Given the description of an element on the screen output the (x, y) to click on. 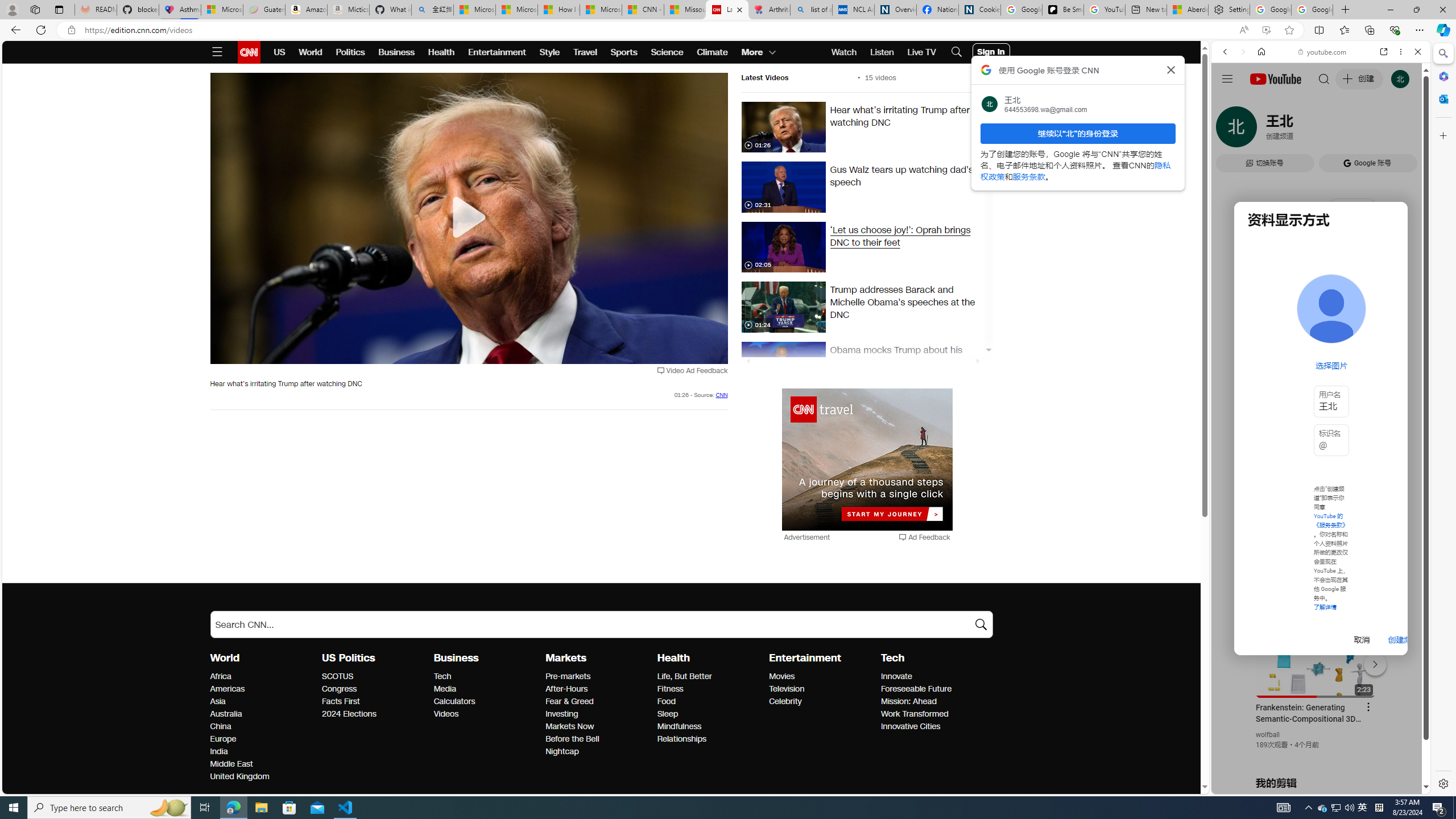
Markets Nightcap (562, 751)
World Australia (225, 713)
Health Life, But Better (683, 676)
Markets Now (598, 726)
Tech Work Transformed (914, 713)
still_20892817_44674.66_still.jpg (783, 246)
YouTube - YouTube (1315, 560)
